Given the description of an element on the screen output the (x, y) to click on. 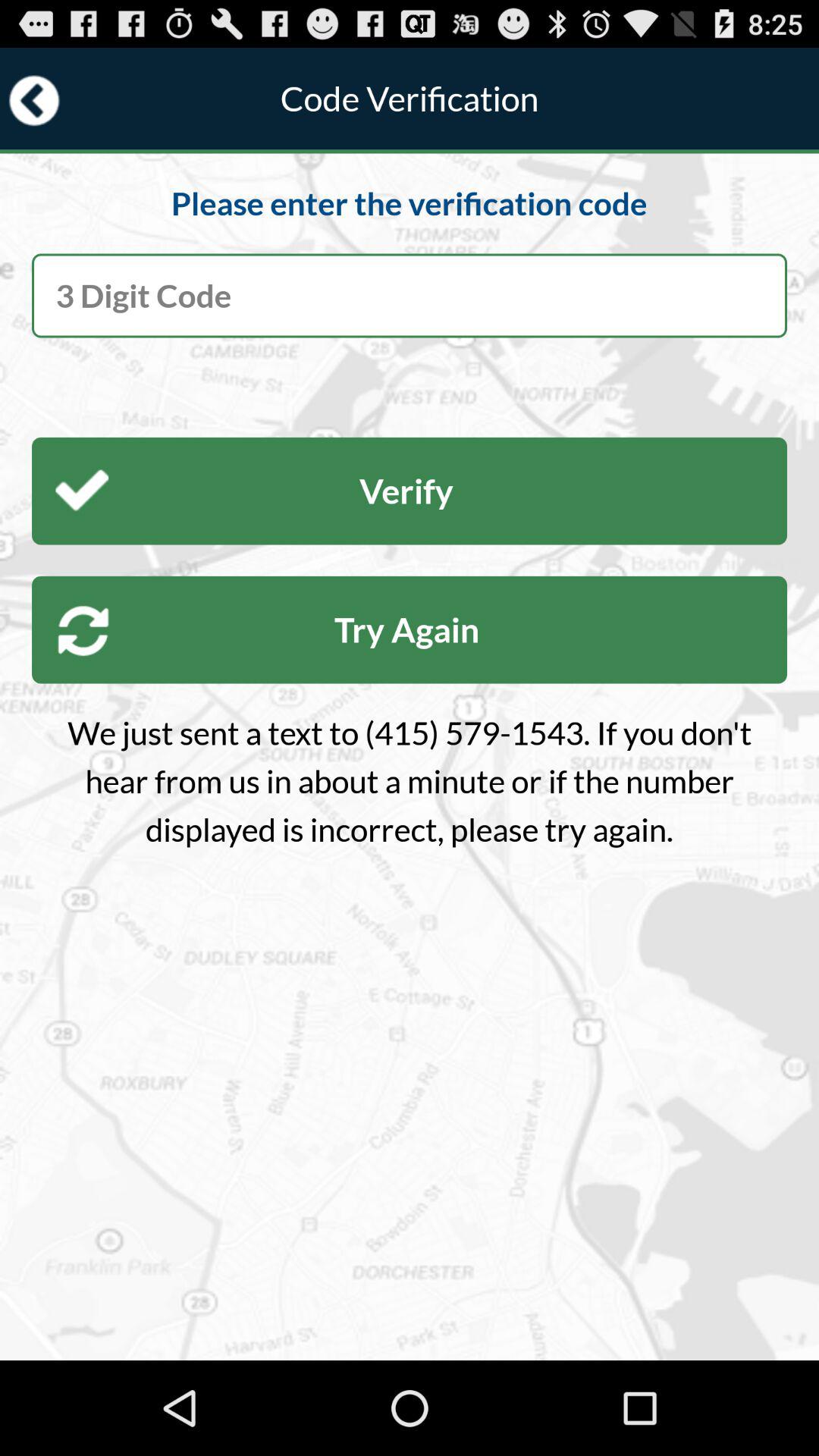
click item below the verify button (409, 629)
